Given the description of an element on the screen output the (x, y) to click on. 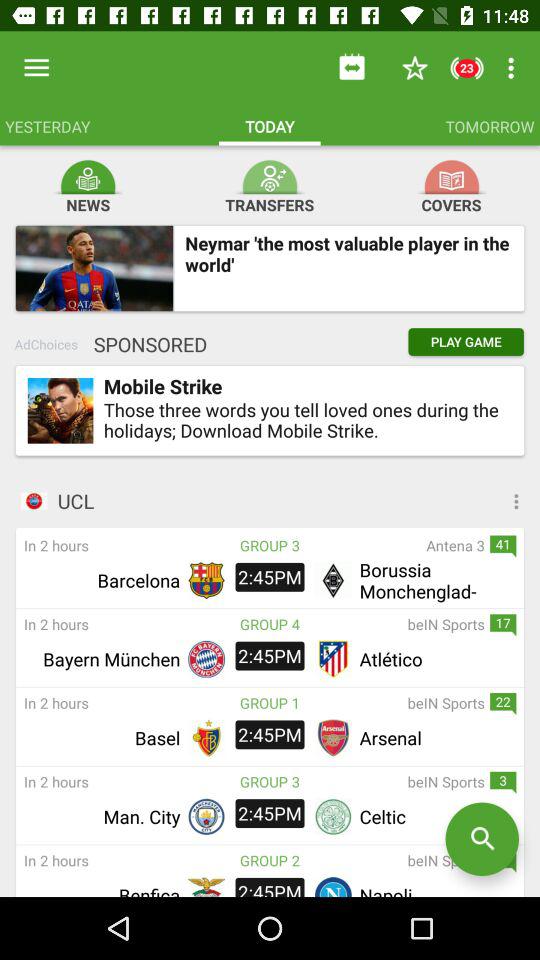
select the borussia monchengladbach (435, 580)
